Given the description of an element on the screen output the (x, y) to click on. 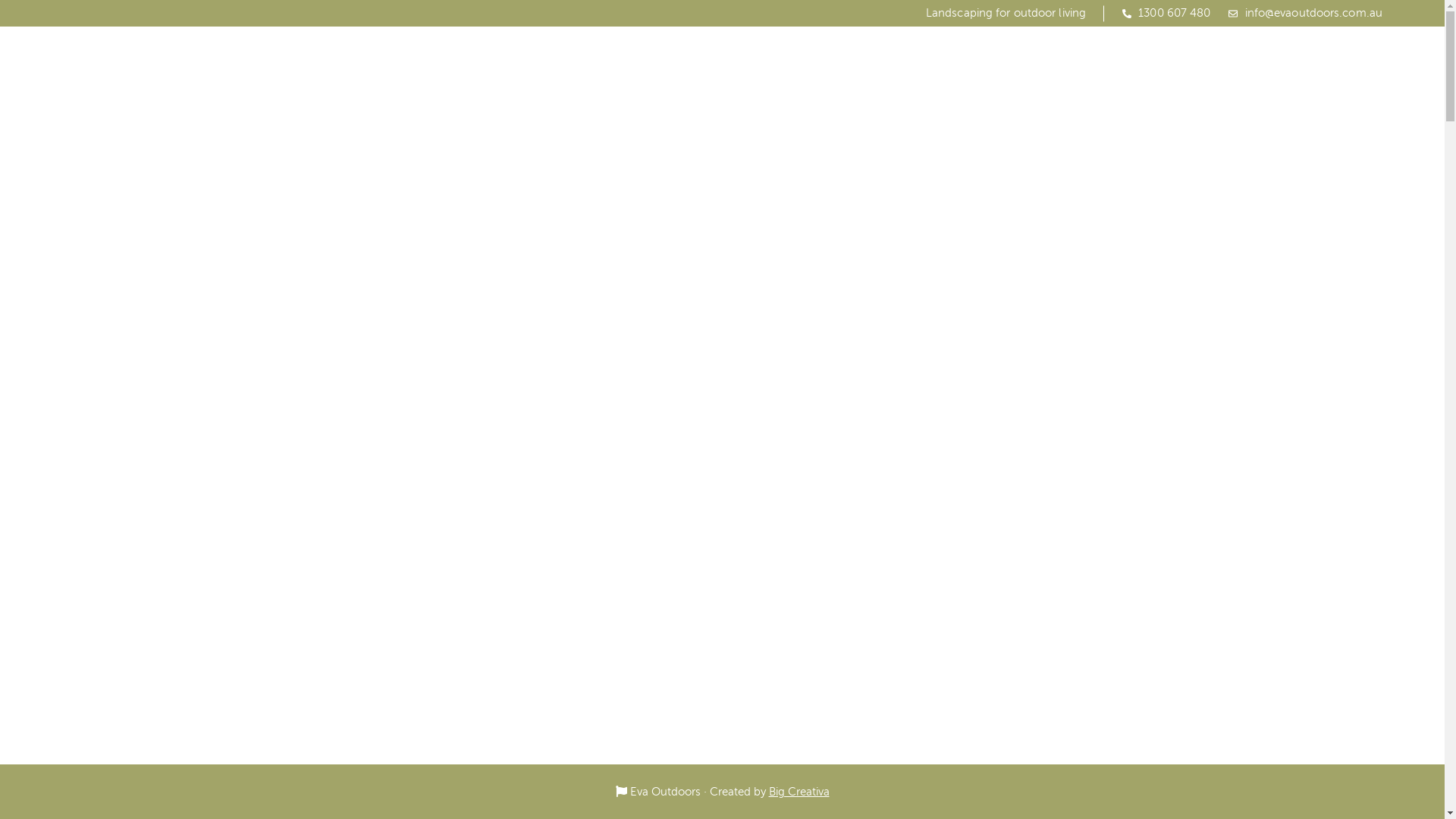
Services Element type: text (1185, 132)
info@evaoutdoors.com.au Element type: text (1305, 13)
Big Creativa Element type: text (798, 791)
Projects Element type: text (1262, 132)
Contact Us Element type: text (1351, 132)
Home Element type: text (1031, 132)
1300 607 480 Element type: text (1166, 13)
About Us Element type: text (1105, 132)
